Given the description of an element on the screen output the (x, y) to click on. 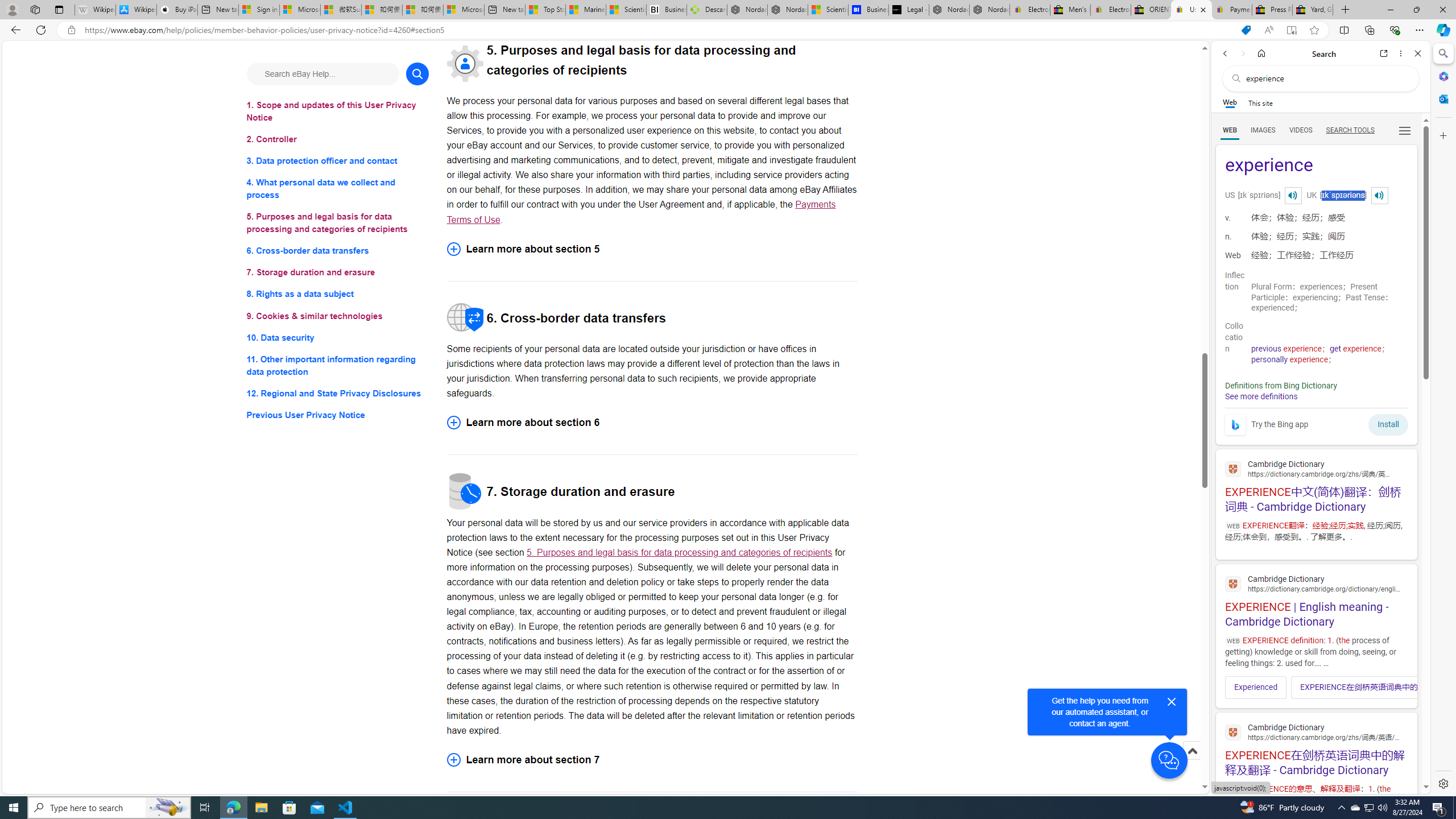
personally experience (1288, 359)
Previous User Privacy Notice (337, 414)
